Given the description of an element on the screen output the (x, y) to click on. 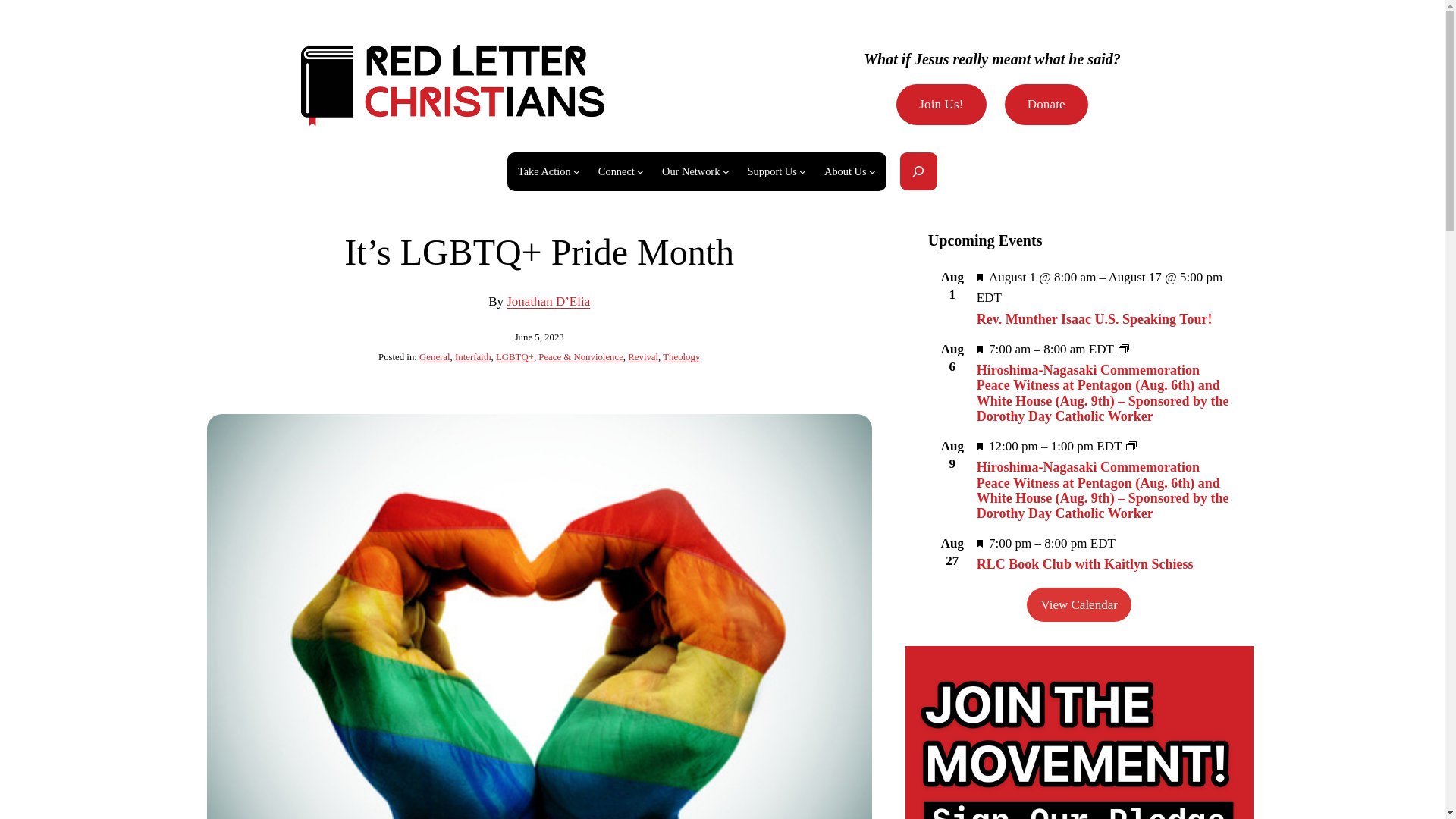
Featured (979, 543)
Featured (979, 348)
Join Us! (941, 104)
Our Network (690, 171)
Rev. Munther Isaac U.S. Speaking Tour! (1094, 319)
Featured (979, 543)
View more events. (1078, 604)
Featured (979, 349)
Take Action (544, 171)
Featured (979, 445)
Donate (1045, 104)
RLC Book Club with Kaitlyn Schiess (1084, 563)
Connect (616, 171)
Event Series (1123, 349)
Event Series (1131, 445)
